Given the description of an element on the screen output the (x, y) to click on. 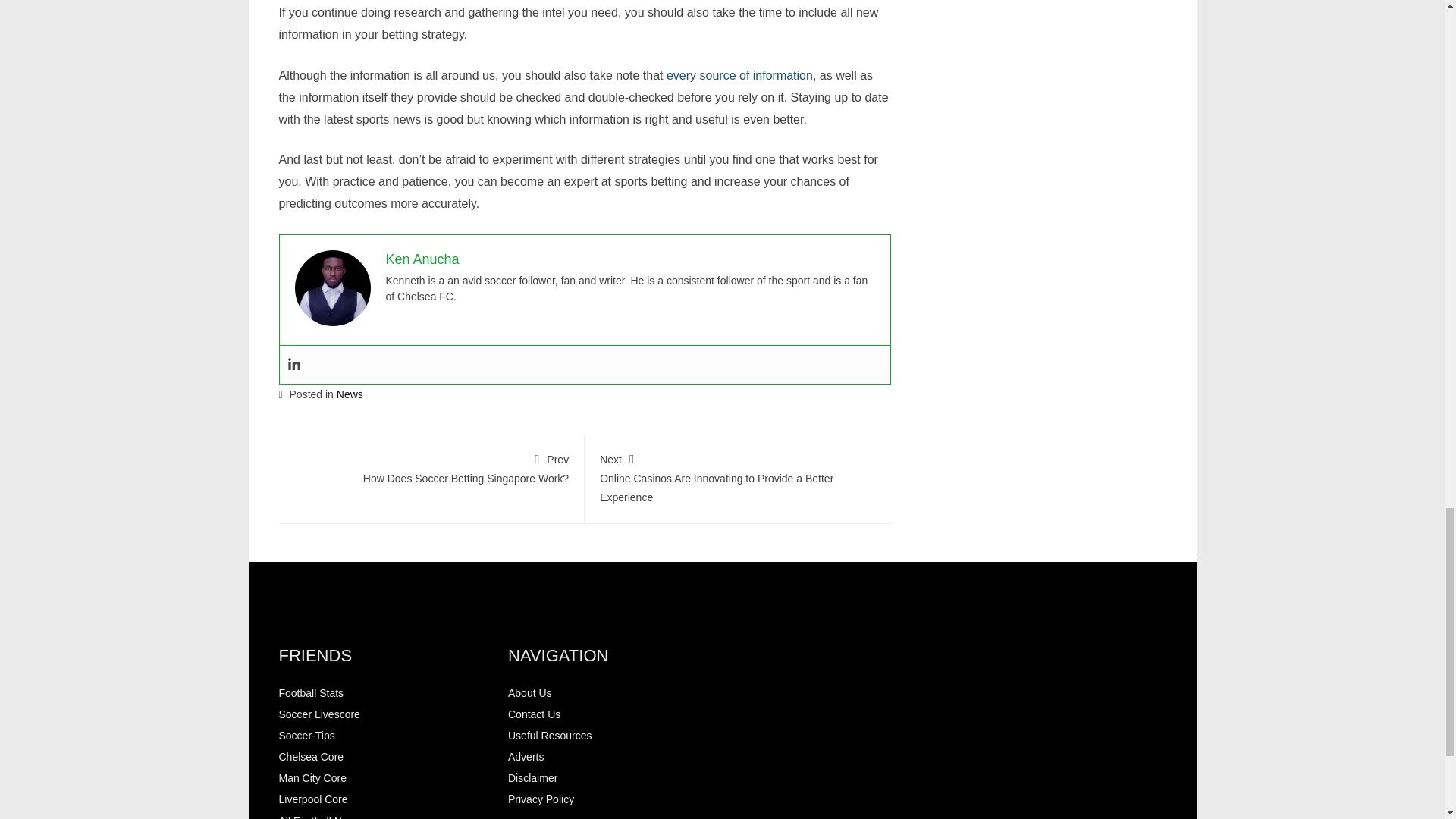
Soccer-Tips (306, 735)
Chelsea Core (311, 756)
Ken Anucha (421, 258)
Contact Us (534, 714)
Football Stats (431, 467)
About Us (311, 693)
Liverpool Core (529, 693)
every source of information (313, 799)
Soccer Livescore (739, 74)
Man City Core (319, 714)
Adverts (312, 777)
News (525, 756)
All Football News (349, 394)
